Given the description of an element on the screen output the (x, y) to click on. 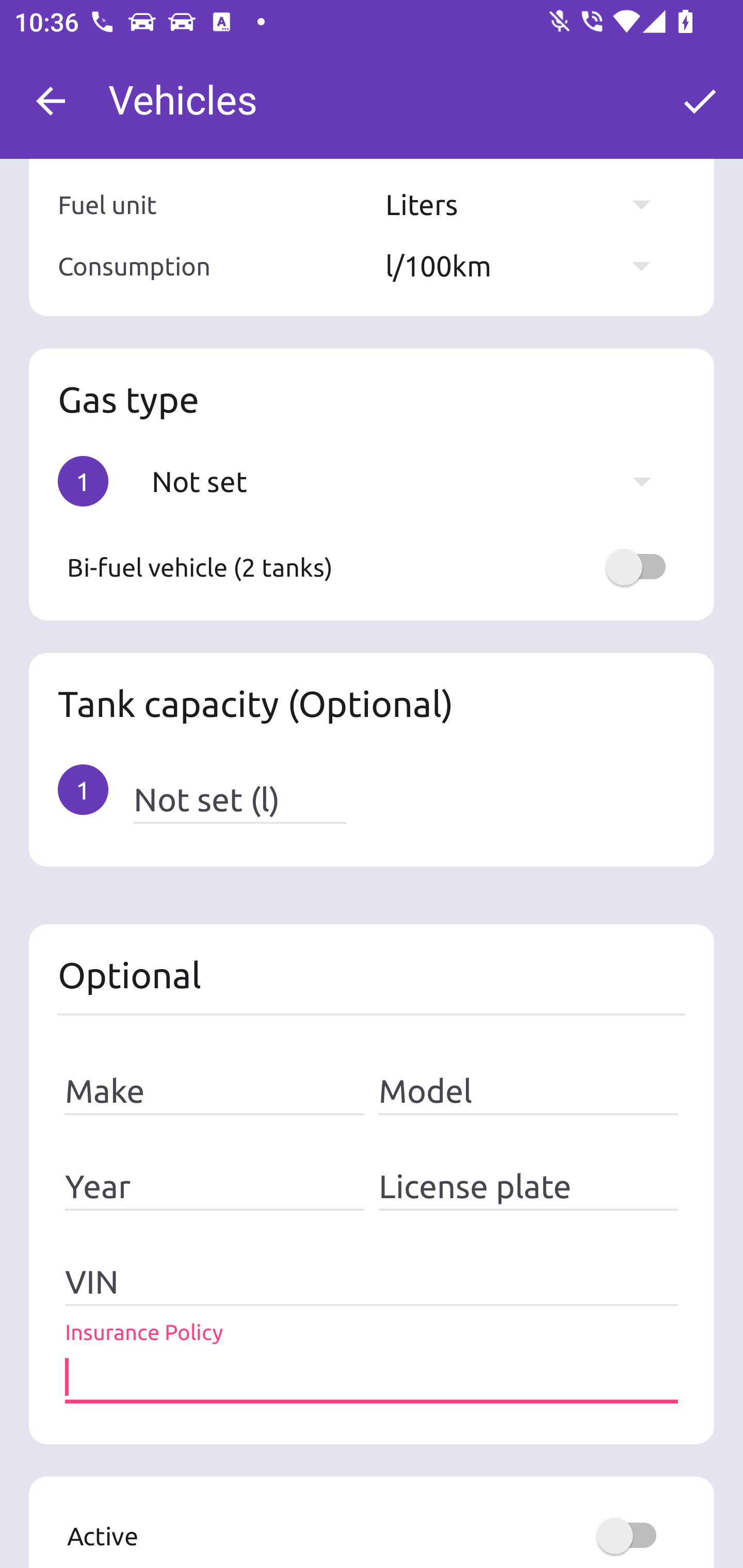
Navigate up (50, 101)
OK (699, 101)
Liters (527, 203)
l/100km (527, 265)
Not set (411, 481)
Bi-fuel vehicle (2 tanks) (371, 566)
Not set (l) (239, 799)
Make (214, 1090)
Model (528, 1090)
Year (214, 1186)
License plate (528, 1186)
VIN (371, 1282)
Insurance Policy (371, 1377)
Active (371, 1535)
